Given the description of an element on the screen output the (x, y) to click on. 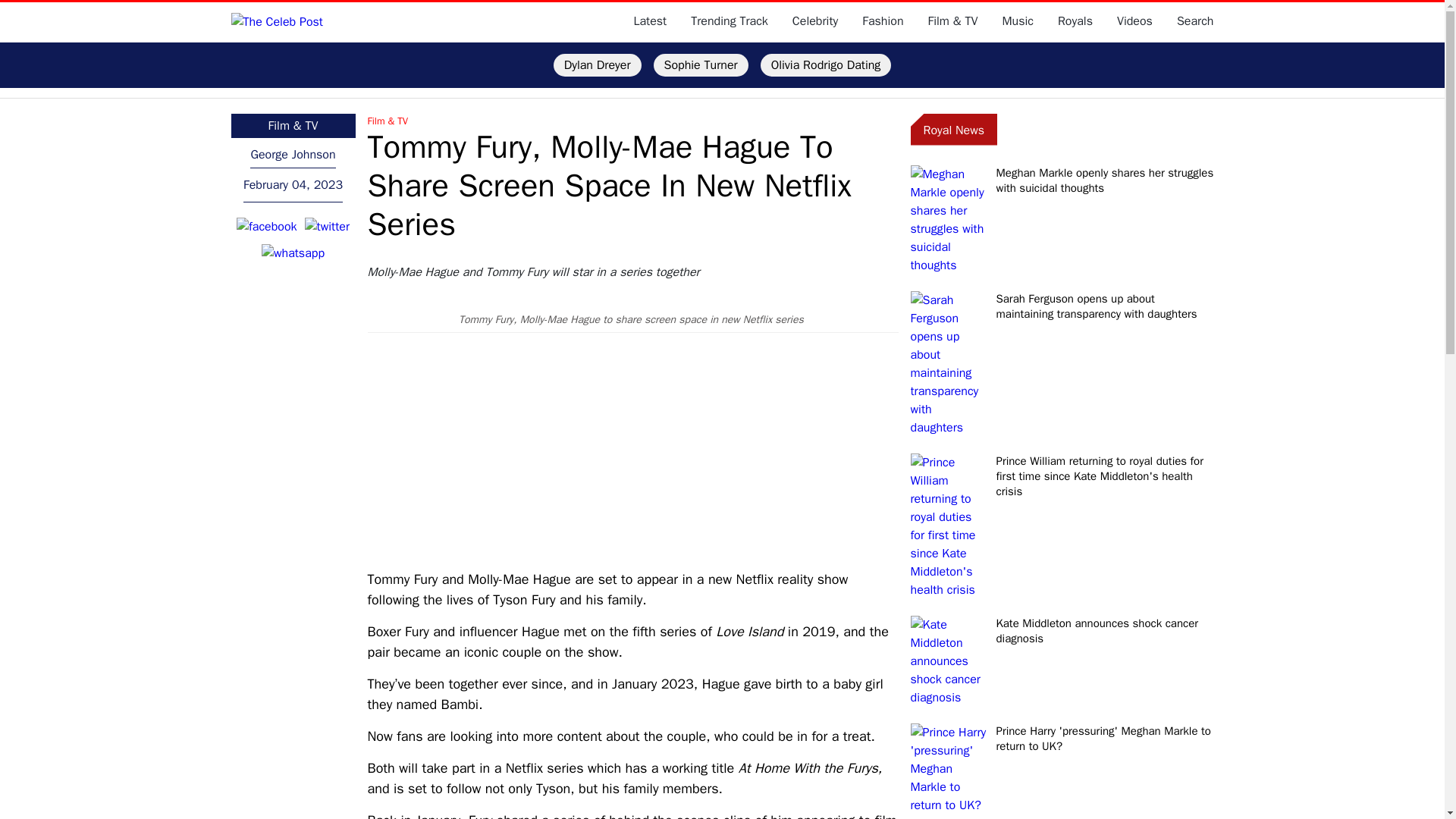
Olivia Rodrigo Dating (825, 65)
Trending Track (729, 21)
Fashion (881, 21)
Videos (1134, 21)
The Celeb Post (275, 21)
Royals (1075, 21)
Royals (1075, 21)
Videos (1134, 21)
Sophie Turner (700, 65)
Latest (649, 21)
